Given the description of an element on the screen output the (x, y) to click on. 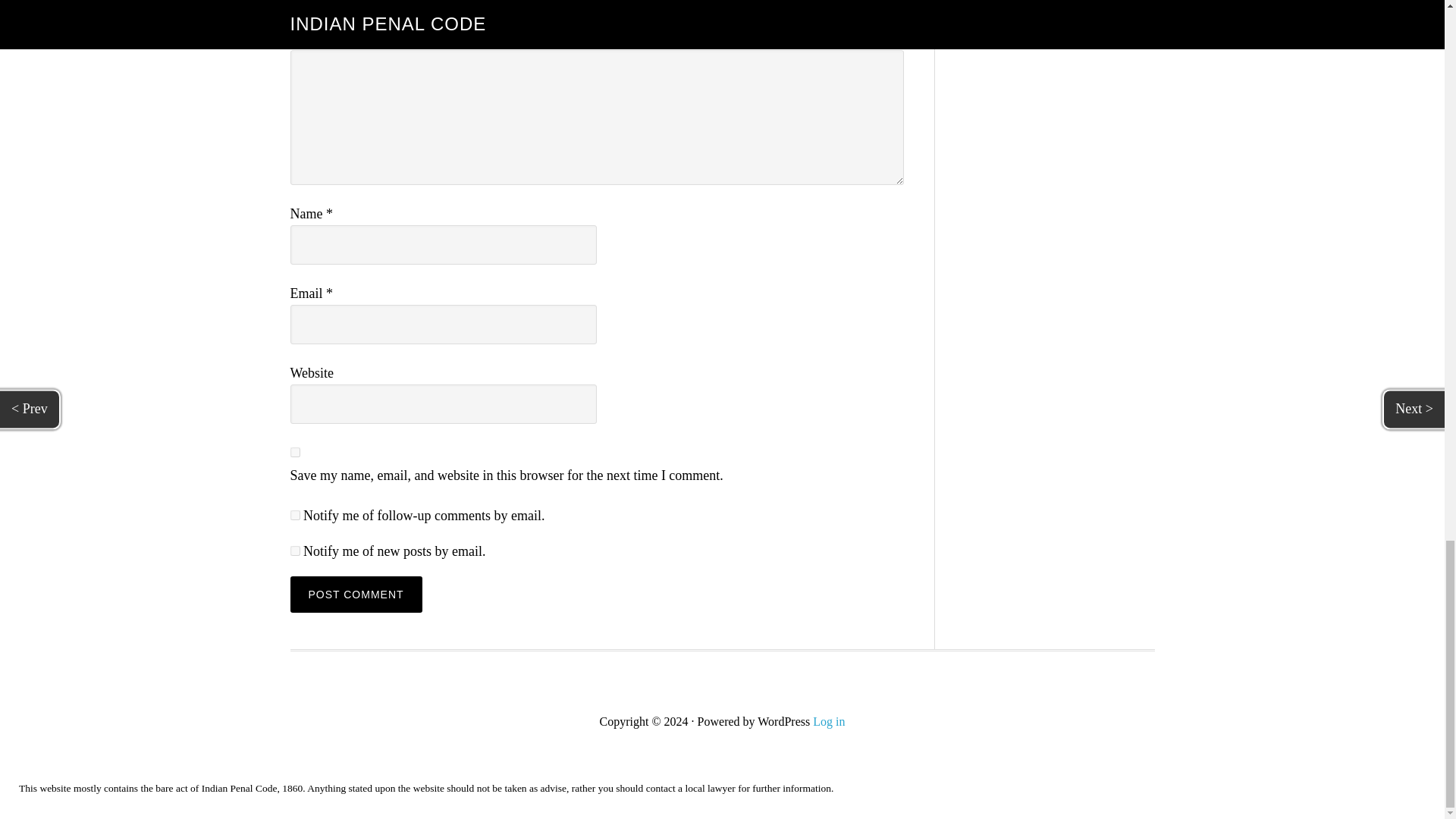
Log in (828, 721)
subscribe (294, 515)
Post Comment (355, 594)
Post Comment (355, 594)
subscribe (294, 551)
yes (294, 452)
